Given the description of an element on the screen output the (x, y) to click on. 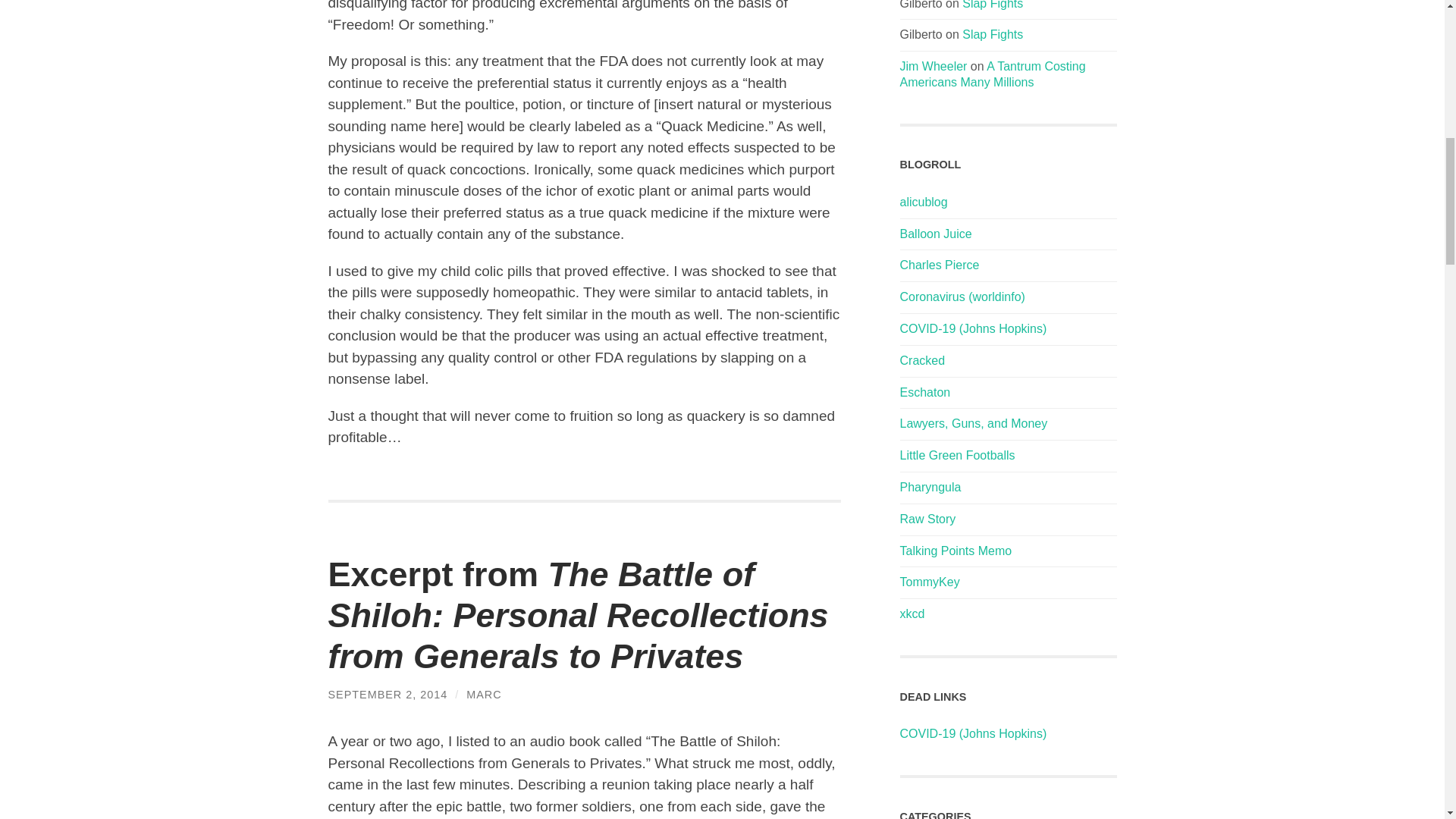
Update on COVID-19 Infection Rate (972, 733)
A Tantrum Costing Americans Many Millions (991, 73)
Pharyngula (929, 486)
alicublog (923, 201)
Eschaton (924, 391)
Balloon Juice (935, 233)
SEPTEMBER 2, 2014 (386, 694)
Lawyers, Guns, and Money (972, 422)
Raw Story (927, 518)
Cracked (921, 359)
Posts by marc (482, 694)
xkcd (911, 613)
TommyKey (929, 581)
Update on COVID-19 Infection Rate (972, 328)
